Given the description of an element on the screen output the (x, y) to click on. 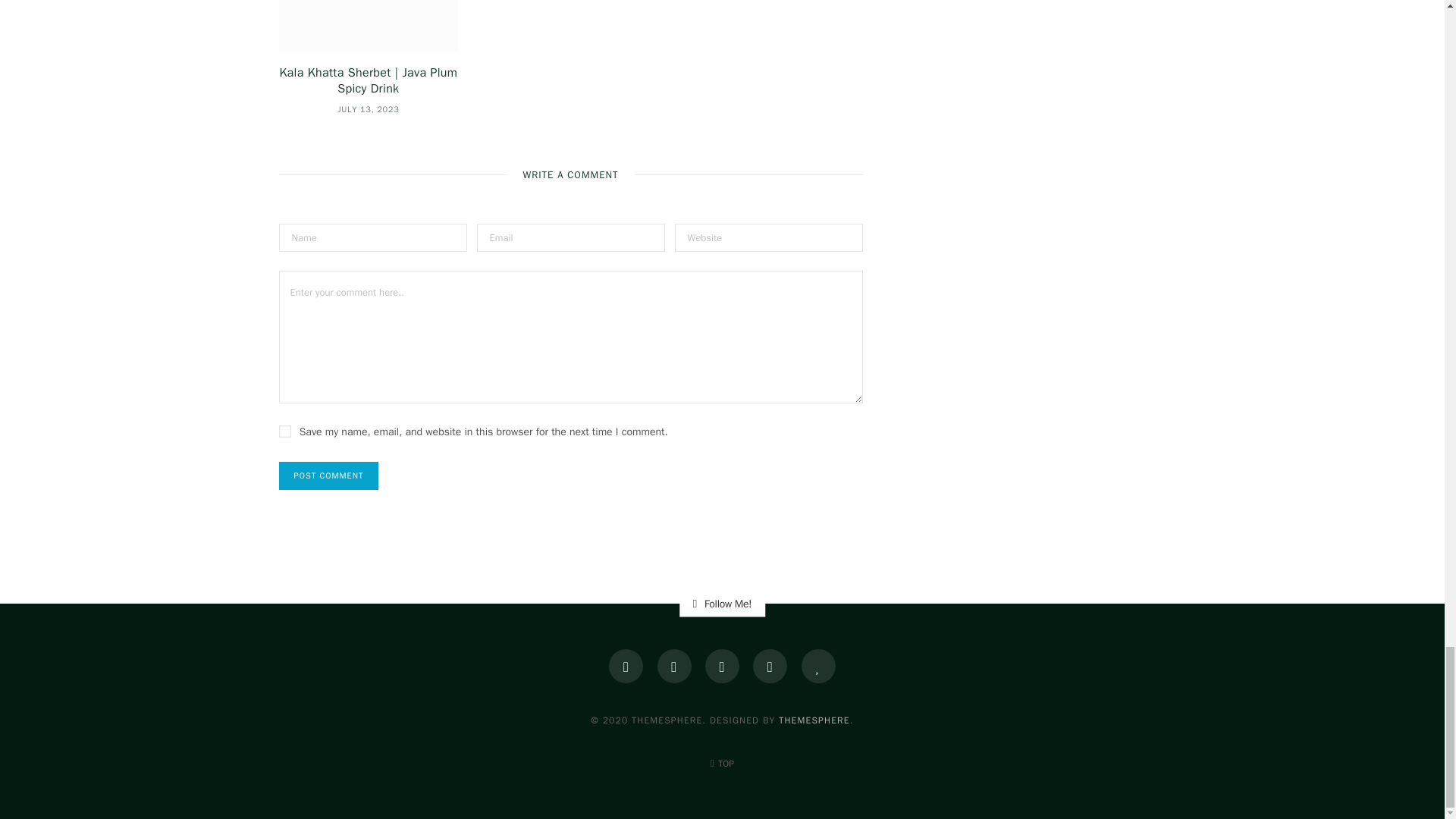
Post Comment (328, 475)
yes (285, 431)
